Given the description of an element on the screen output the (x, y) to click on. 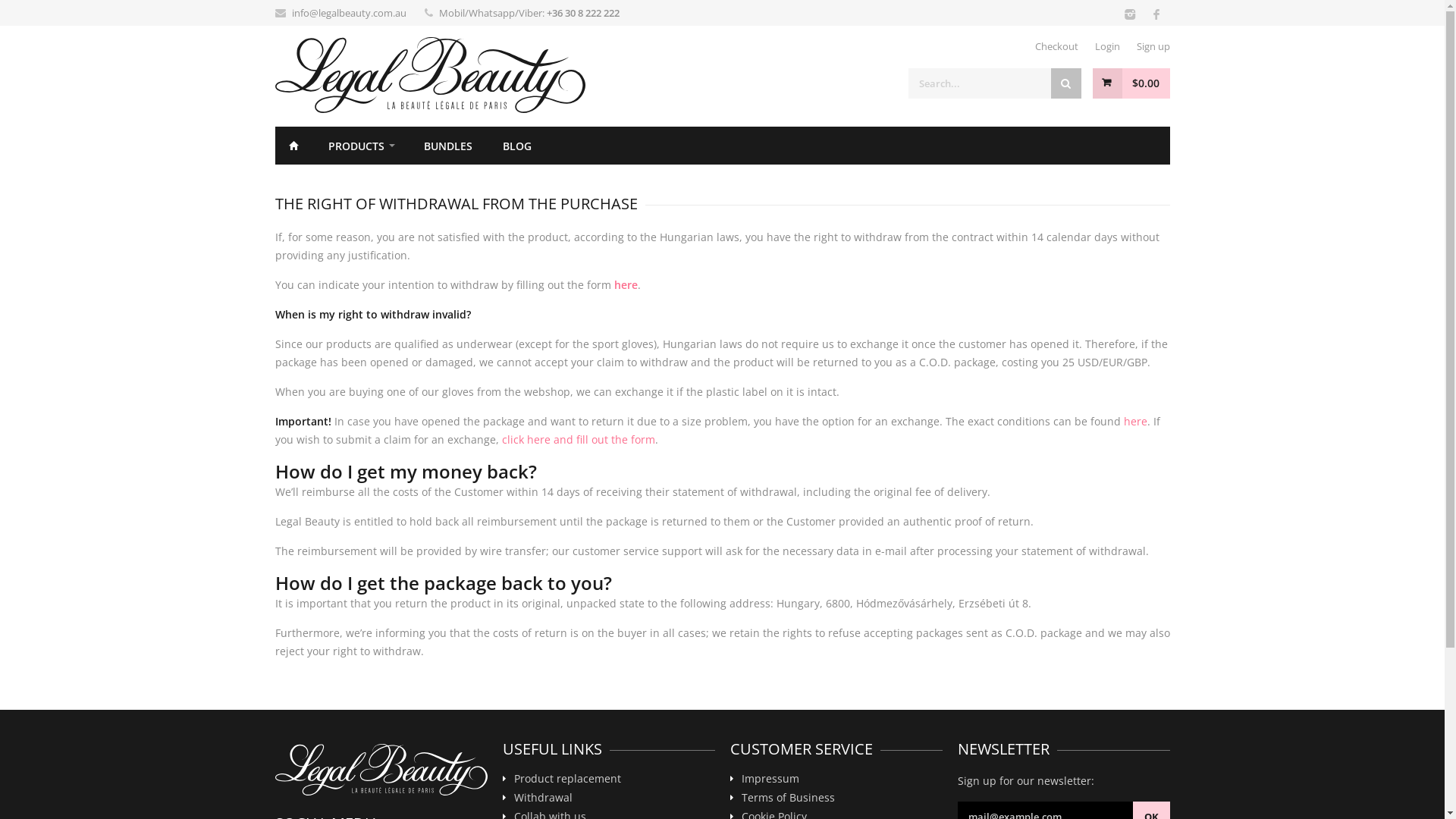
click here and fill out the form Element type: text (578, 439)
BLOG Element type: text (516, 145)
Terms of Business Element type: text (836, 799)
$0.00 Element type: text (1130, 83)
Sign up Element type: text (1152, 46)
here Element type: text (625, 284)
Checkout Element type: text (1055, 46)
PRODUCTS Element type: text (359, 145)
Product replacement Element type: text (609, 780)
BUNDLES Element type: text (446, 145)
Login Element type: text (1107, 46)
info@legalbeauty.com.au Element type: text (348, 12)
here Element type: text (1135, 421)
Withdrawal Element type: text (609, 799)
+36 30 8 222 222 Element type: text (582, 12)
Impressum Element type: text (836, 780)
